Given the description of an element on the screen output the (x, y) to click on. 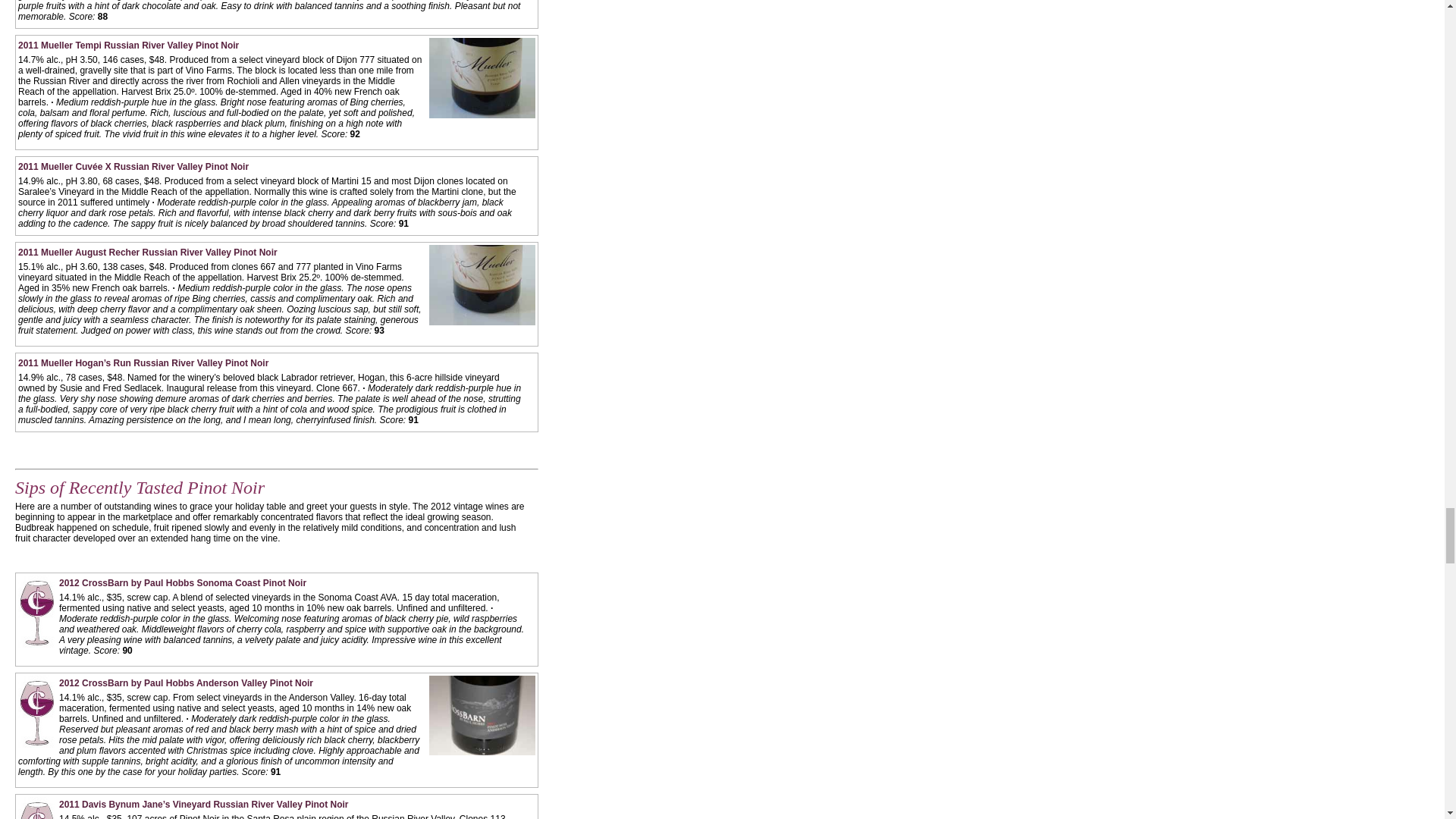
2011 Mueller Tempi Russian River Valley Pinot Noir (127, 45)
